Given the description of an element on the screen output the (x, y) to click on. 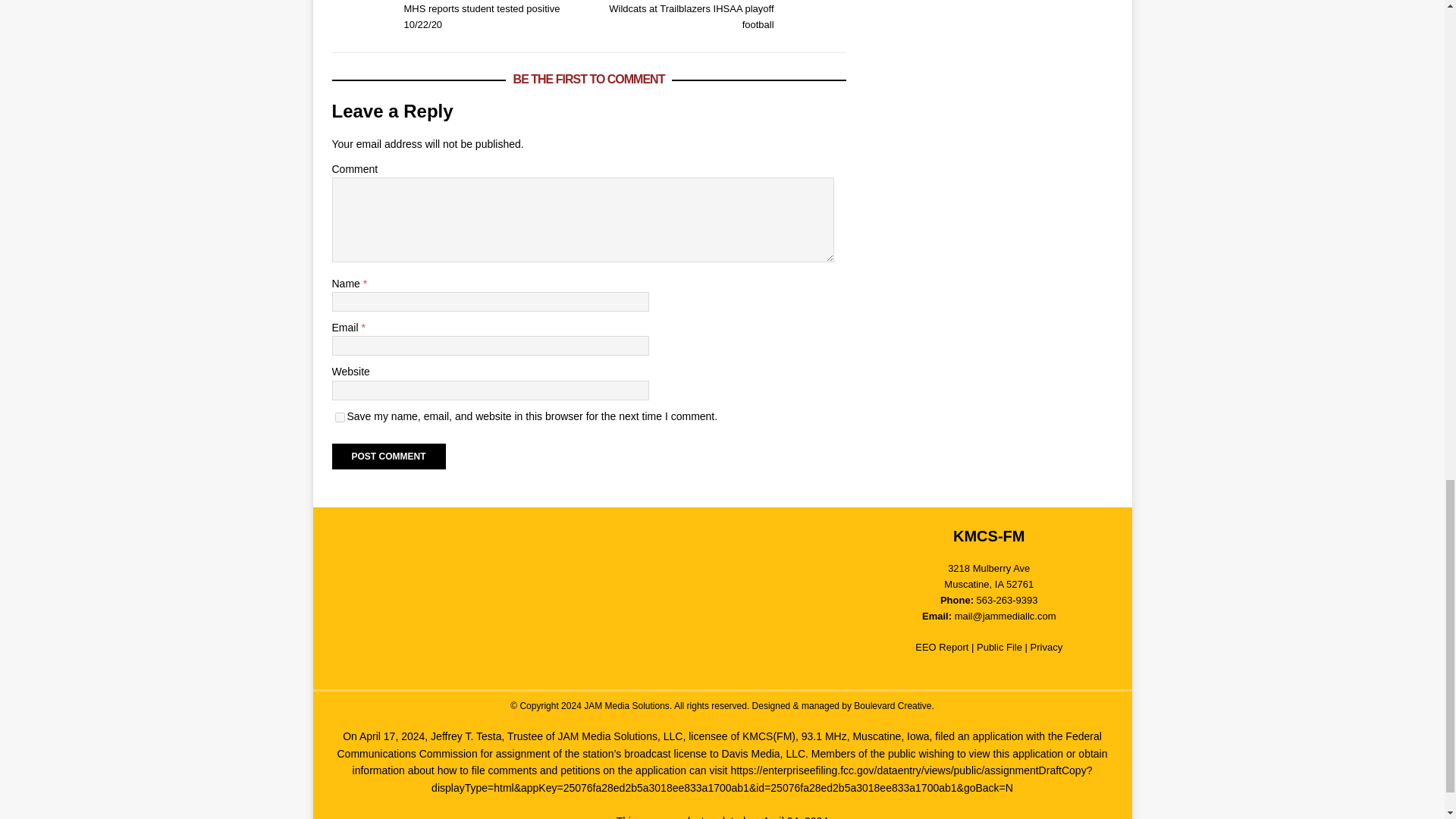
yes (339, 417)
Post Comment (388, 456)
Post Comment (720, 16)
